Given the description of an element on the screen output the (x, y) to click on. 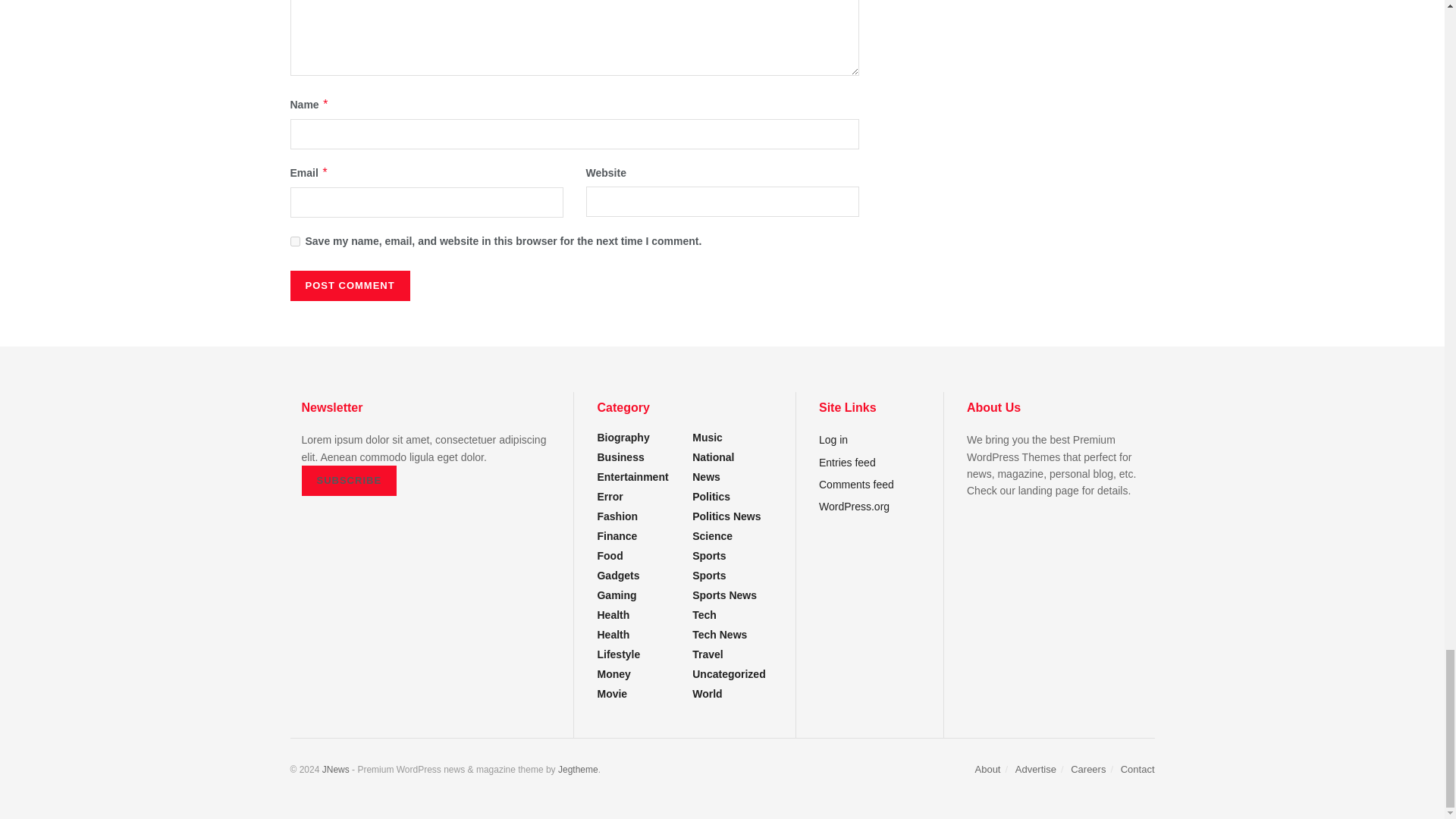
yes (294, 241)
Jegtheme (577, 769)
Post Comment (349, 286)
